Given the description of an element on the screen output the (x, y) to click on. 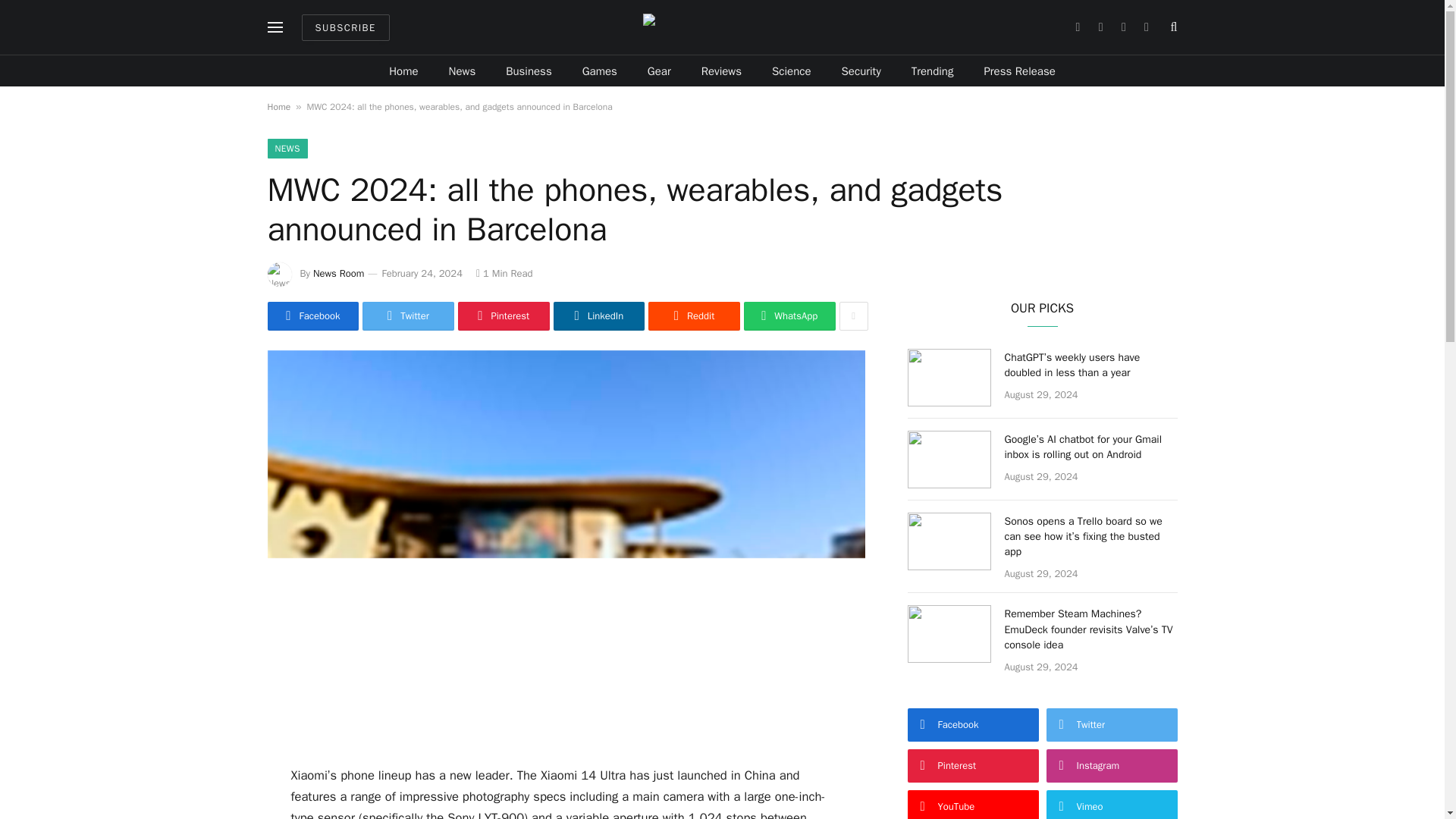
Home (277, 106)
SUBSCRIBE (345, 26)
Reviews (721, 70)
Posts by News Room (339, 273)
Games (599, 70)
Facebook (312, 316)
News Room (339, 273)
Security (861, 70)
NEWS (286, 148)
Trending (932, 70)
